Given the description of an element on the screen output the (x, y) to click on. 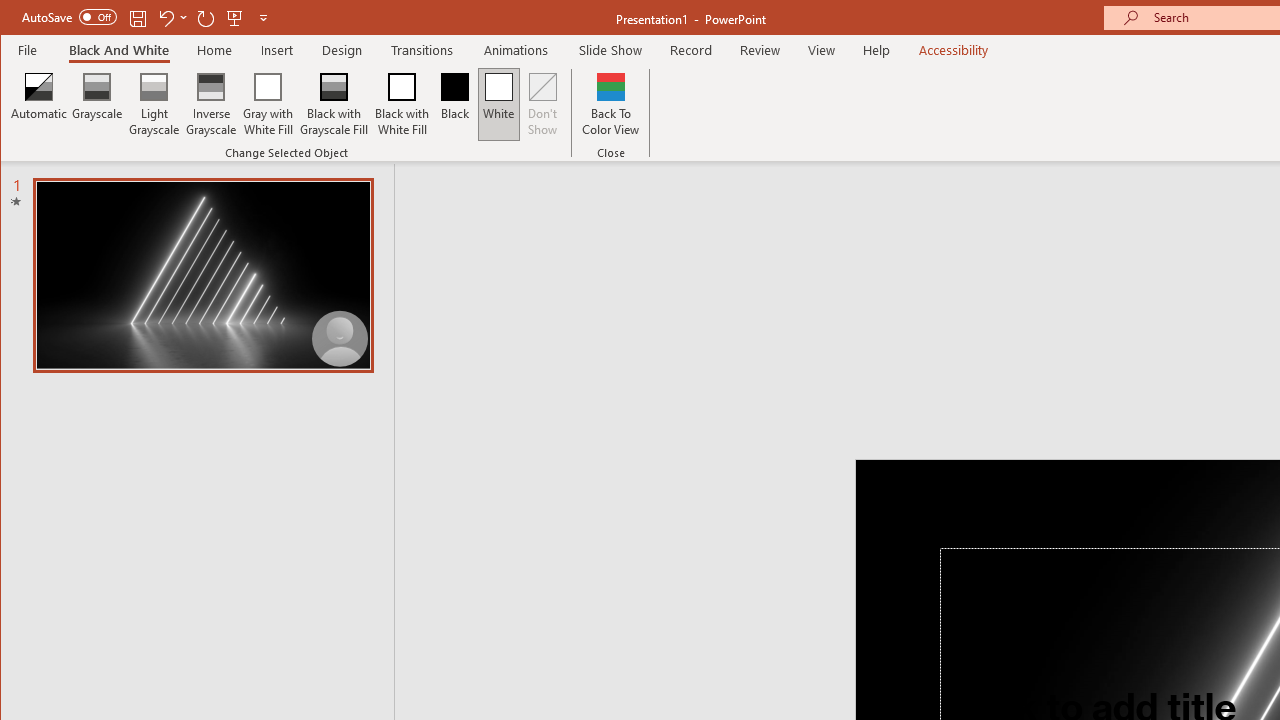
Inverse Grayscale (211, 104)
White (498, 104)
Automatic (39, 104)
Black with Grayscale Fill (334, 104)
Light Grayscale (153, 104)
